Given the description of an element on the screen output the (x, y) to click on. 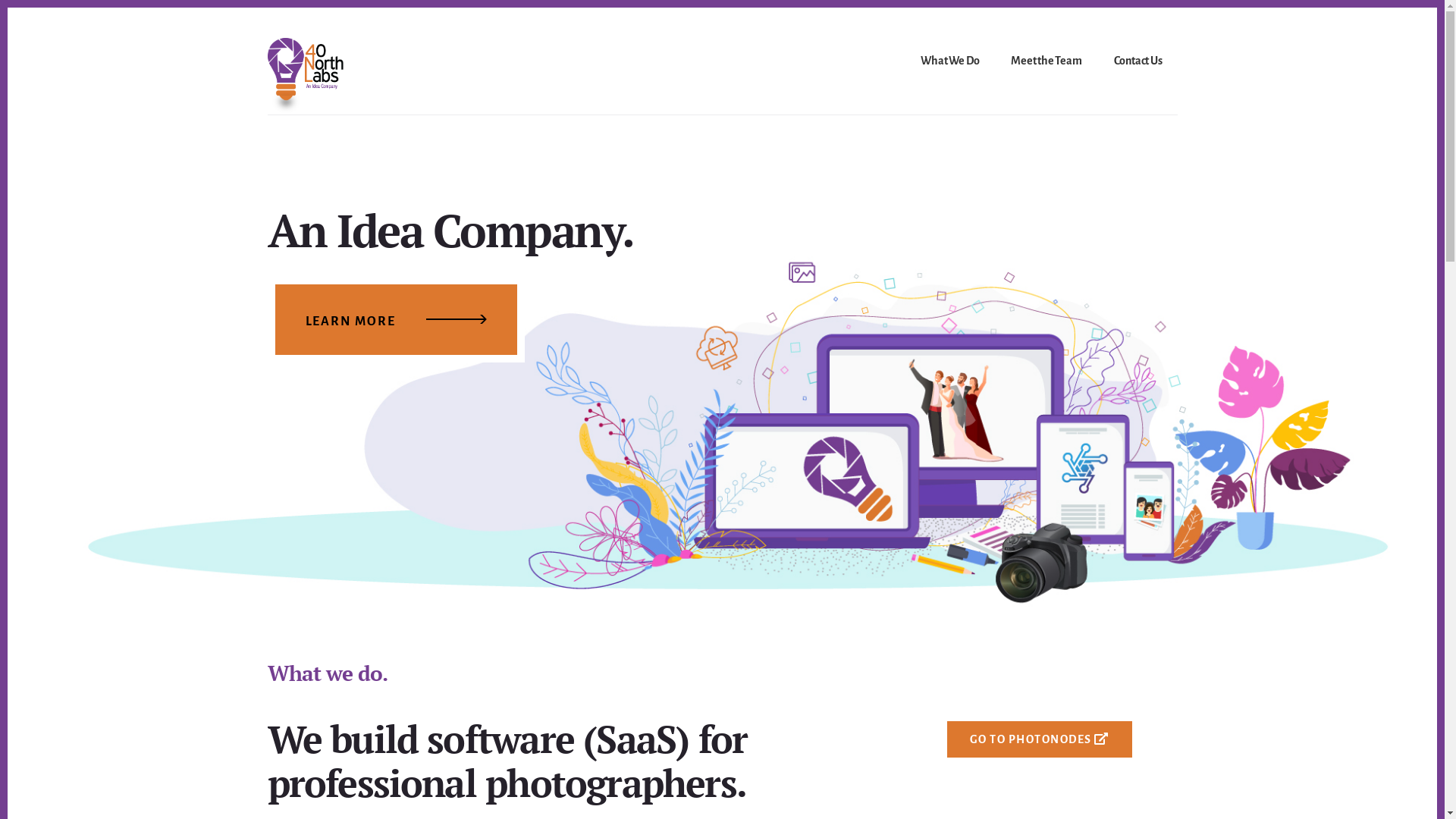
Contact Us Element type: text (1137, 61)
GO TO PHOTONODES Element type: text (1039, 738)
Skip to content Element type: text (7, 7)
What We Do Element type: text (949, 61)
Meet the Team Element type: text (1045, 61)
LEARN MORE Element type: text (395, 319)
